Given the description of an element on the screen output the (x, y) to click on. 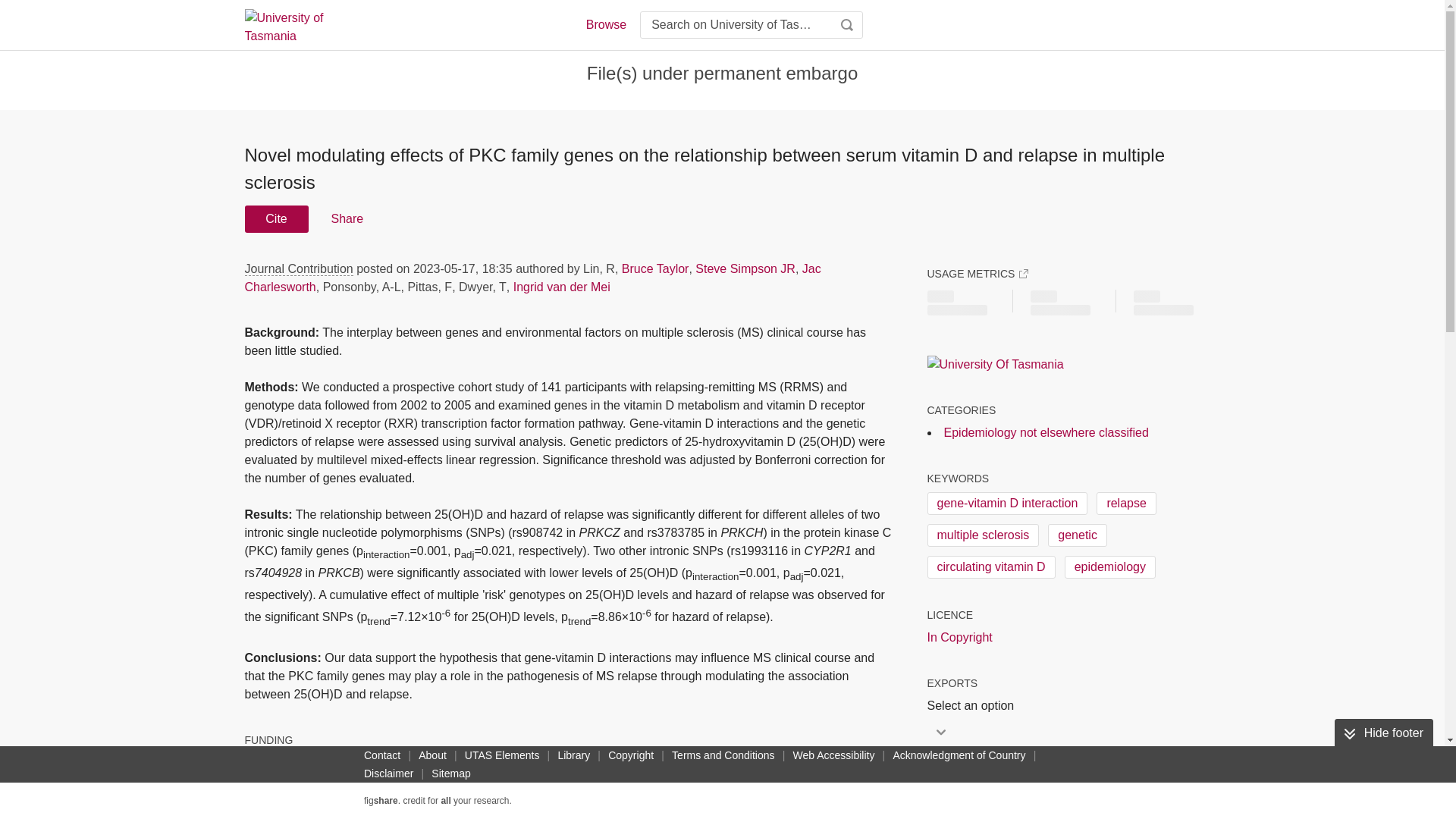
Copyright (631, 755)
About (432, 755)
Hide footer (1383, 733)
Sitemap (450, 773)
Bruce Taylor (654, 268)
Jac Charlesworth (532, 277)
Steve Simpson JR (744, 268)
In Copyright (958, 637)
Library (573, 755)
multiple sclerosis (982, 535)
Epidemiology not elsewhere classified (1045, 431)
Web Accessibility (834, 755)
gene-vitamin D interaction (1006, 503)
genetic (1077, 535)
Ingrid van der Mei (561, 286)
